Given the description of an element on the screen output the (x, y) to click on. 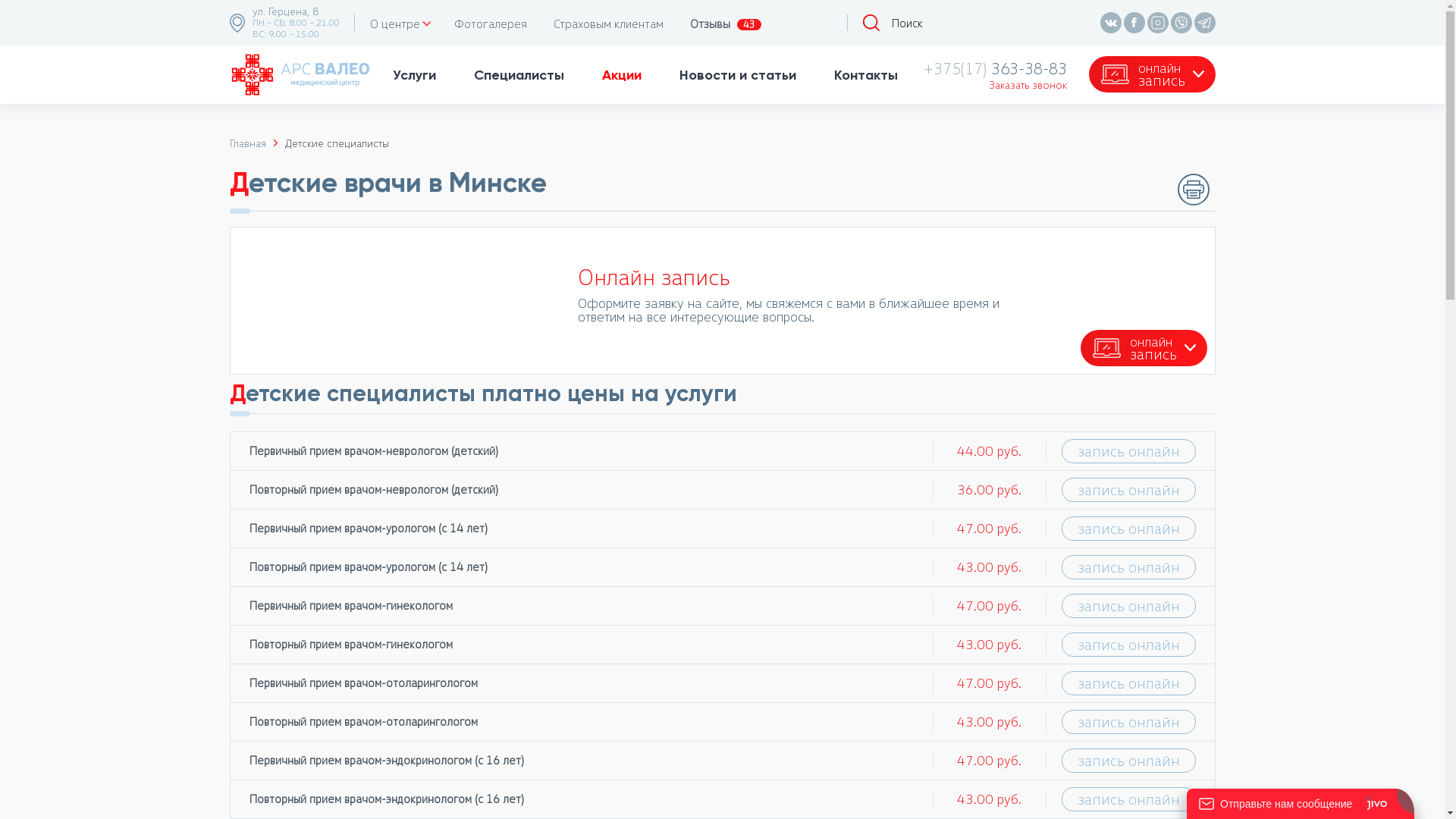
+375(17) 363-38-83 Element type: text (994, 68)
Instagram Element type: text (1156, 22)
Telegram Element type: text (1203, 22)
Viber Element type: text (1181, 22)
